Given the description of an element on the screen output the (x, y) to click on. 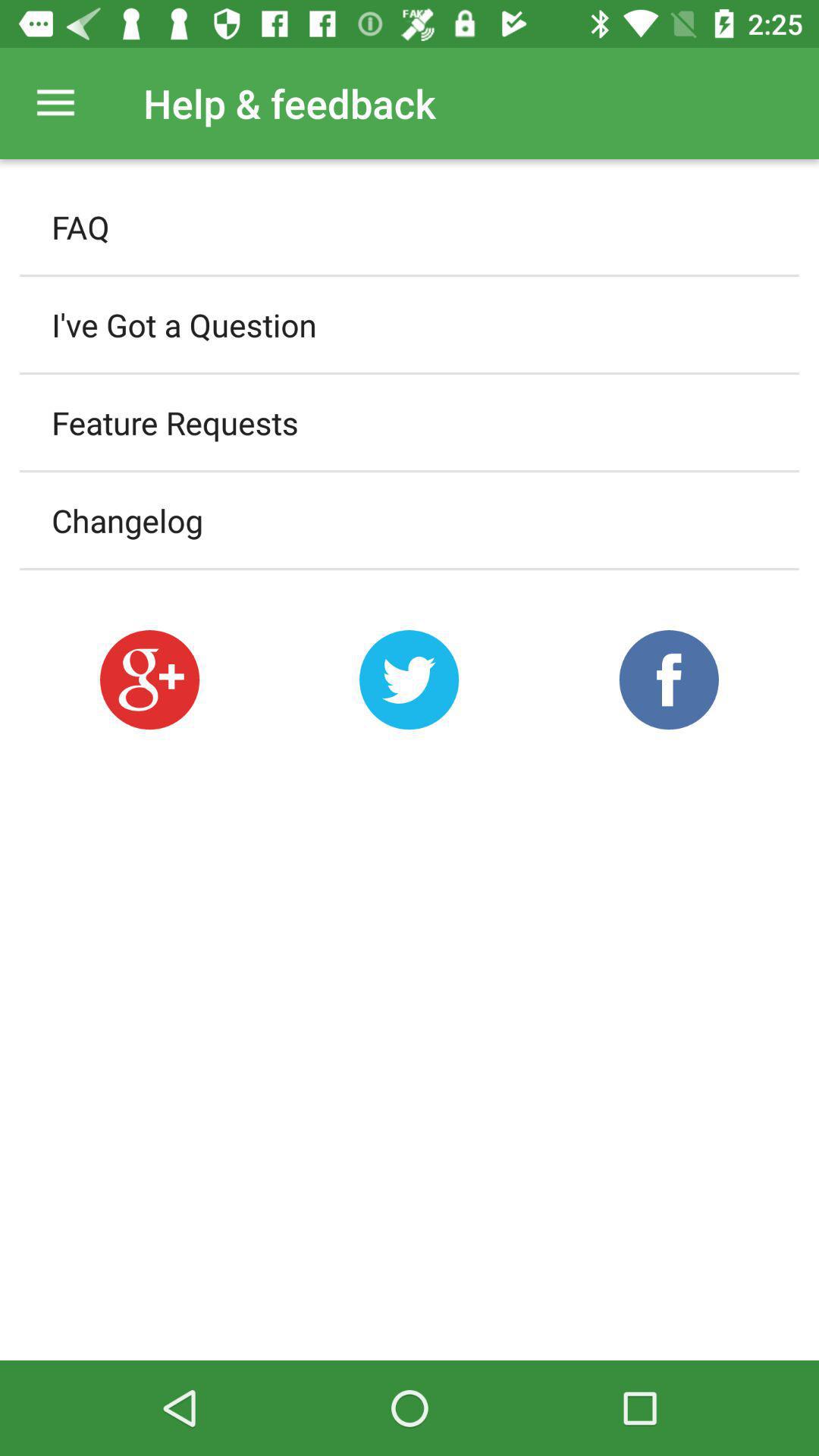
open icon above faq icon (55, 103)
